Given the description of an element on the screen output the (x, y) to click on. 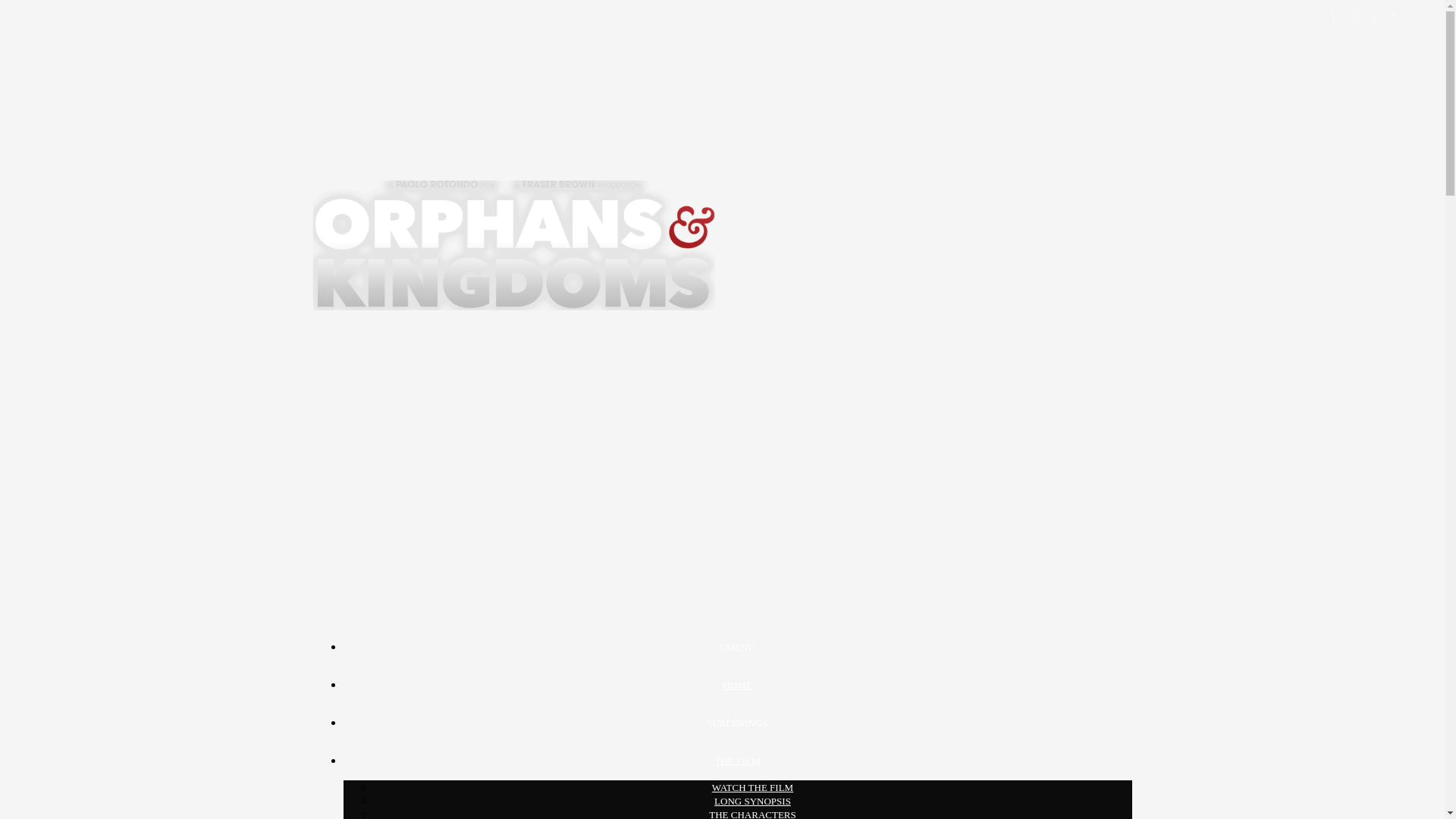
HOME (736, 685)
LONG SYNOPSIS (752, 800)
WATCH THE FILM (752, 787)
Back to Home Page (513, 608)
THE FILM (737, 760)
SCREENINGS (736, 722)
 MENU (736, 646)
THE CHARACTERS (751, 814)
